Given the description of an element on the screen output the (x, y) to click on. 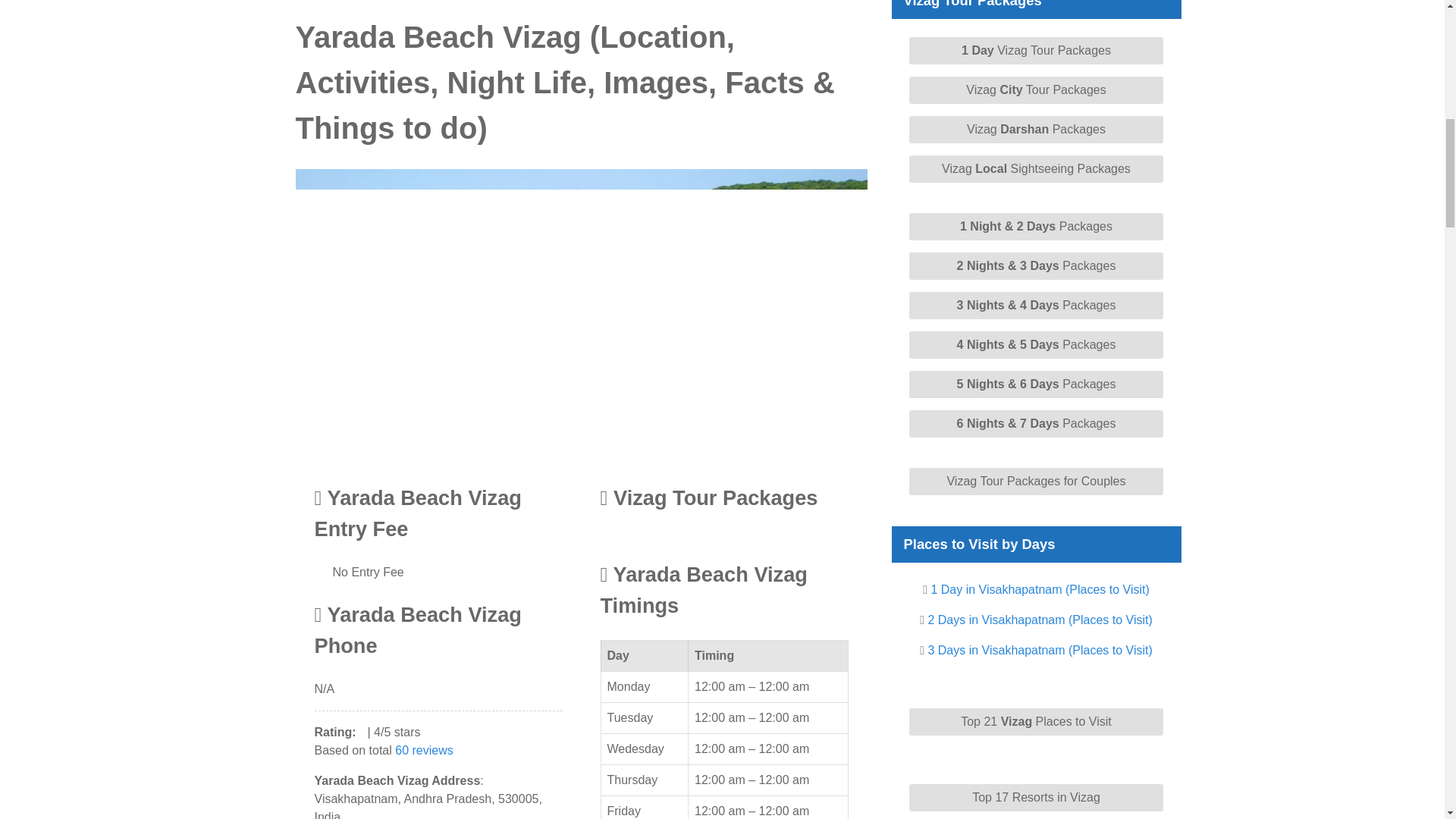
1 Day Vizag Tour Packages (1034, 50)
60 reviews (423, 749)
